Given the description of an element on the screen output the (x, y) to click on. 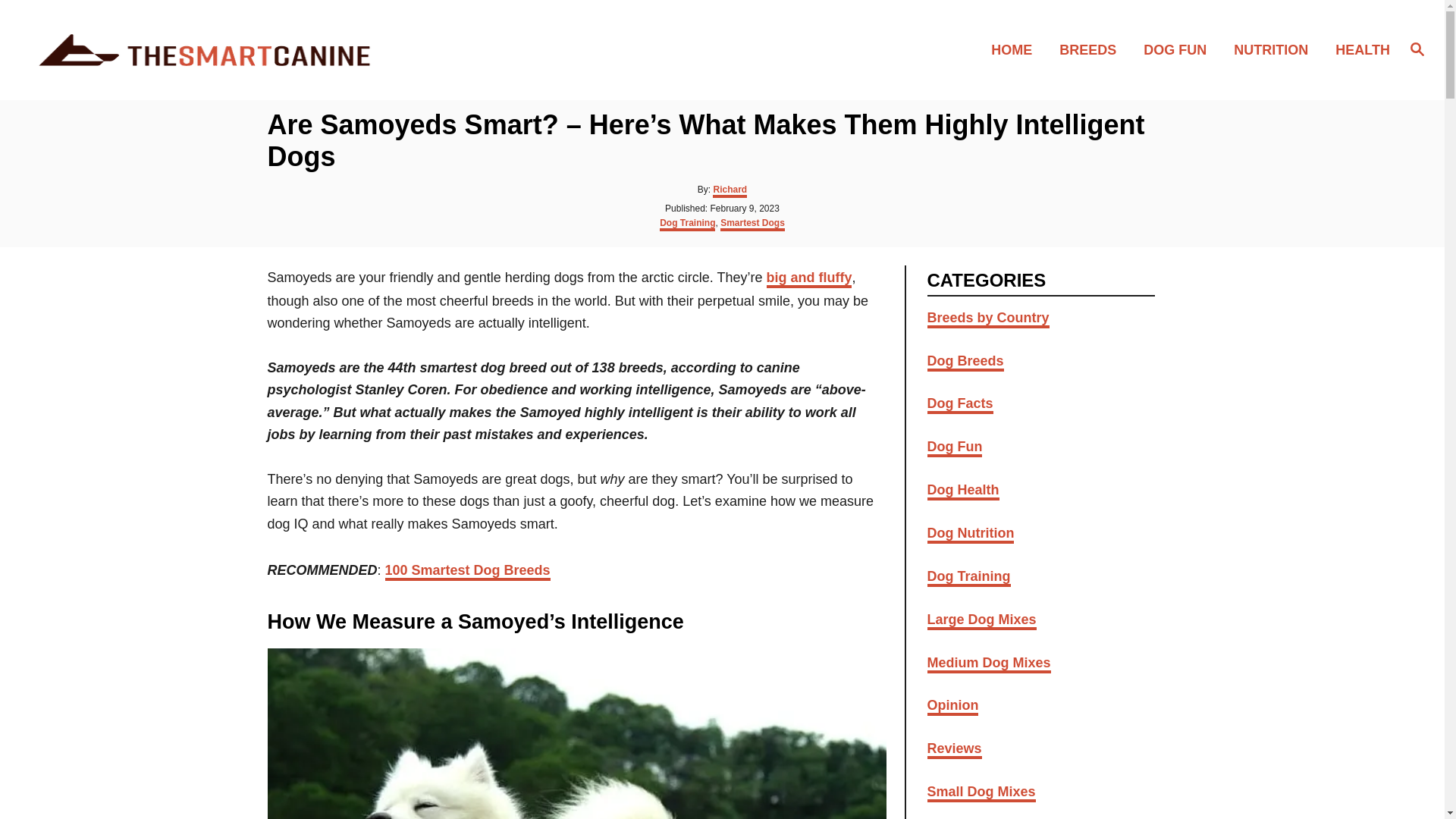
The Smart Canine (204, 49)
Magnifying Glass (1416, 48)
BREEDS (1091, 49)
HOME (1015, 49)
